Given the description of an element on the screen output the (x, y) to click on. 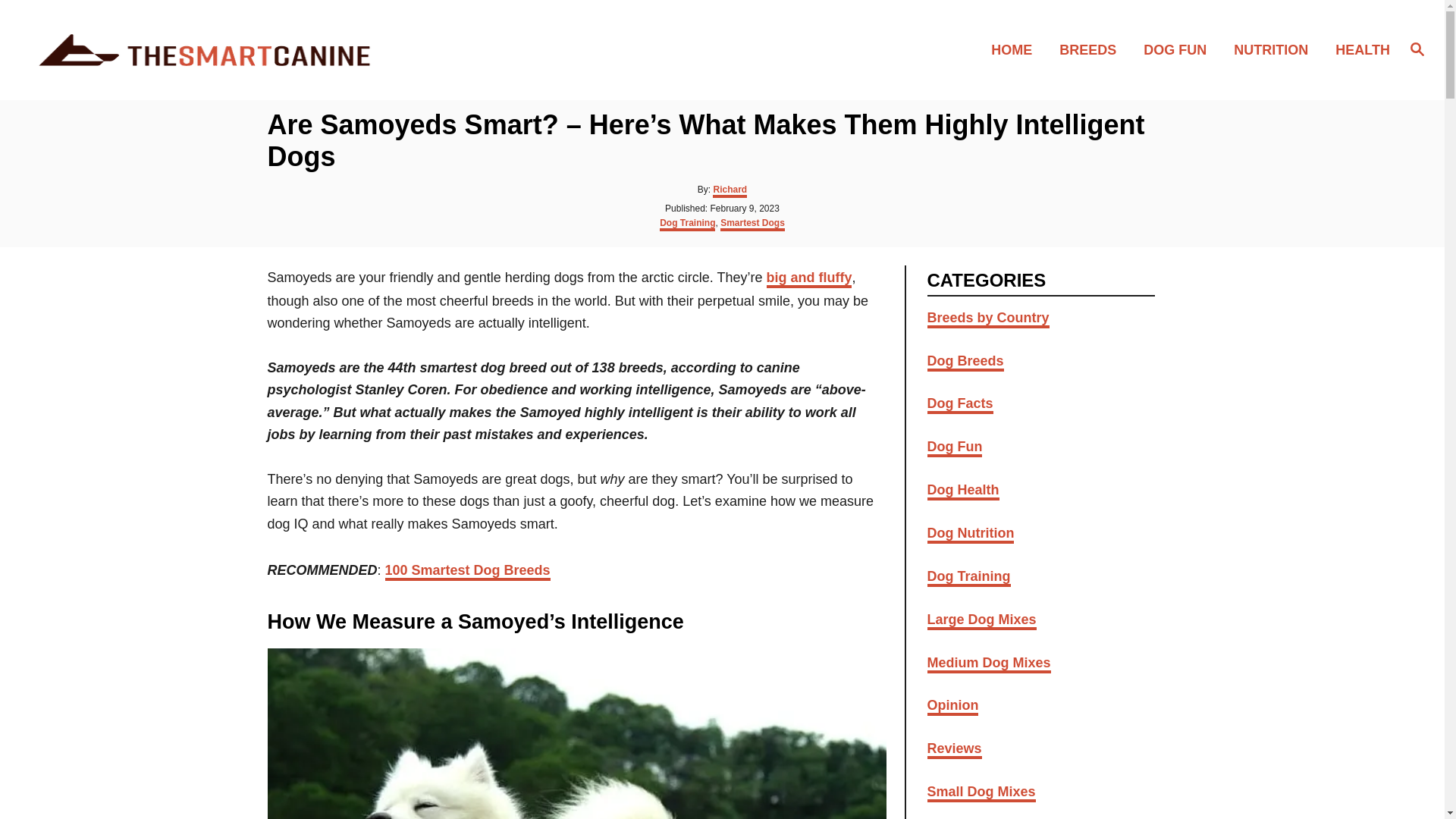
The Smart Canine (204, 49)
Magnifying Glass (1416, 48)
BREEDS (1091, 49)
HOME (1015, 49)
